Given the description of an element on the screen output the (x, y) to click on. 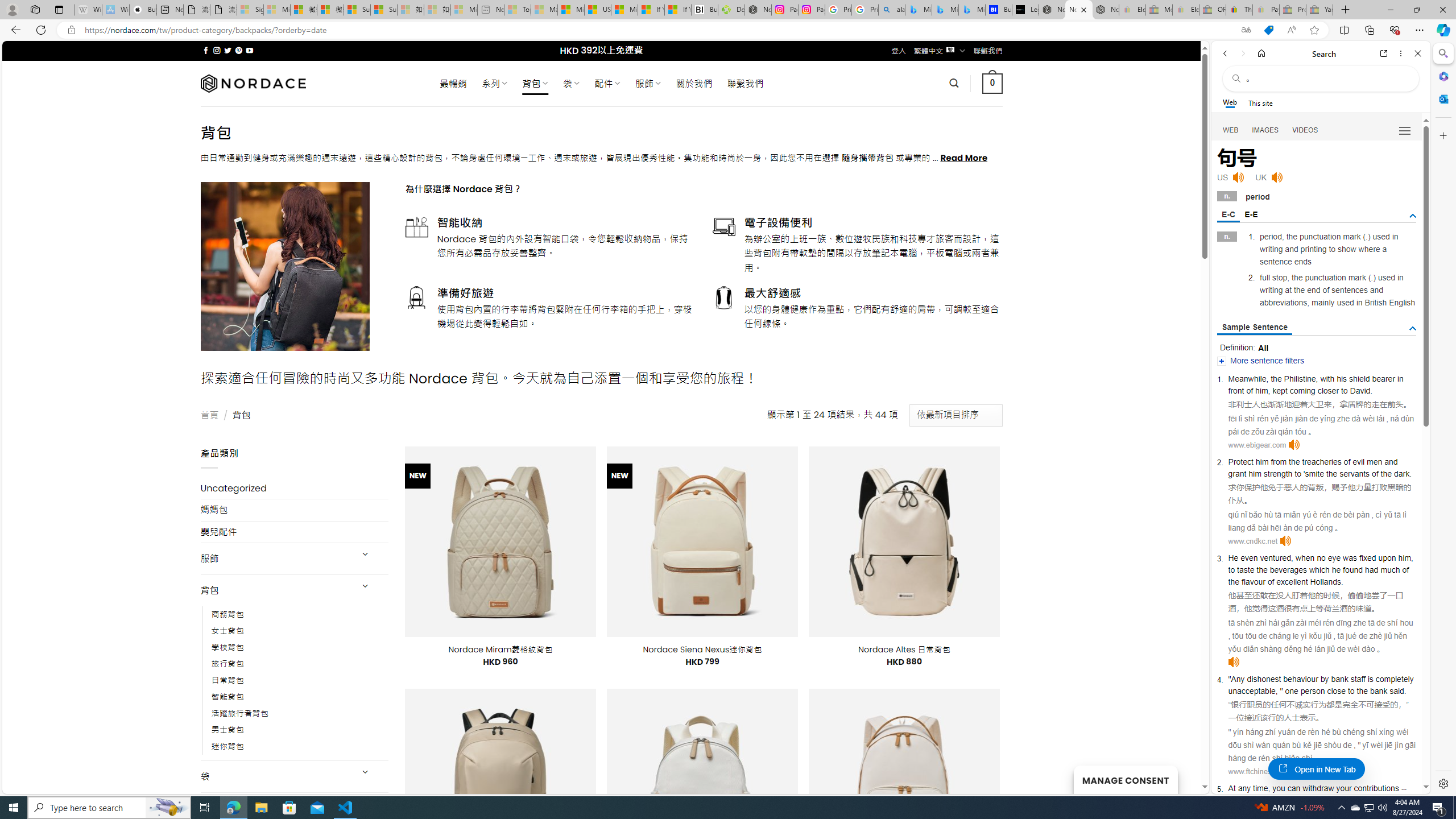
This site has coupons! Shopping in Microsoft Edge (1268, 29)
you (1278, 787)
alabama high school quarterback dies - Search (891, 9)
said (1396, 690)
